Given the description of an element on the screen output the (x, y) to click on. 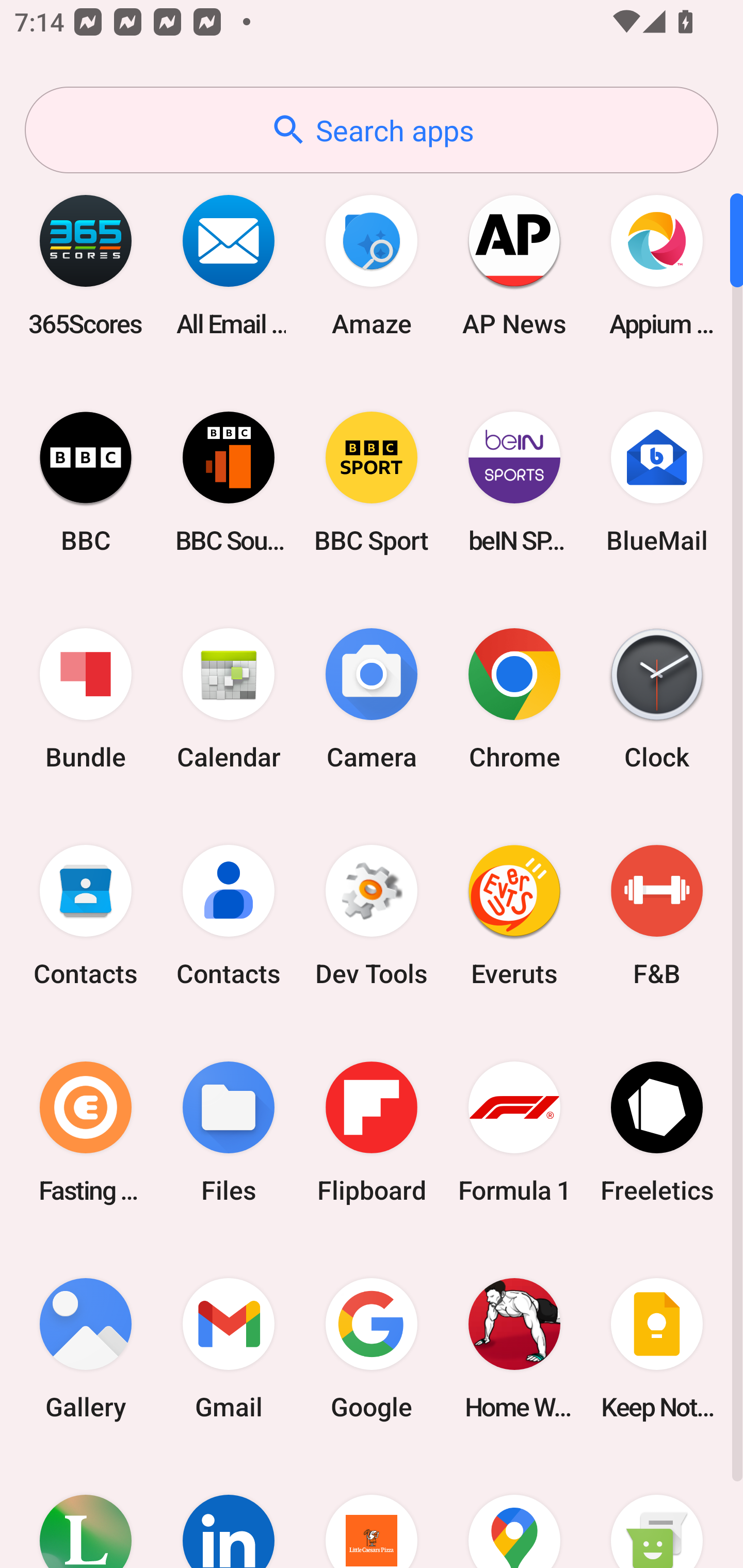
  Search apps (371, 130)
365Scores (85, 264)
All Email Connect (228, 264)
Amaze (371, 264)
AP News (514, 264)
Appium Settings (656, 264)
BBC (85, 482)
BBC Sounds (228, 482)
BBC Sport (371, 482)
beIN SPORTS (514, 482)
BlueMail (656, 482)
Bundle (85, 699)
Calendar (228, 699)
Camera (371, 699)
Chrome (514, 699)
Clock (656, 699)
Contacts (85, 915)
Contacts (228, 915)
Dev Tools (371, 915)
Everuts (514, 915)
F&B (656, 915)
Fasting Coach (85, 1131)
Files (228, 1131)
Flipboard (371, 1131)
Formula 1 (514, 1131)
Freeletics (656, 1131)
Gallery (85, 1348)
Gmail (228, 1348)
Google (371, 1348)
Home Workout (514, 1348)
Keep Notes (656, 1348)
Lifesum (85, 1512)
LinkedIn (228, 1512)
Little Caesars Pizza (371, 1512)
Maps (514, 1512)
Messaging (656, 1512)
